Given the description of an element on the screen output the (x, y) to click on. 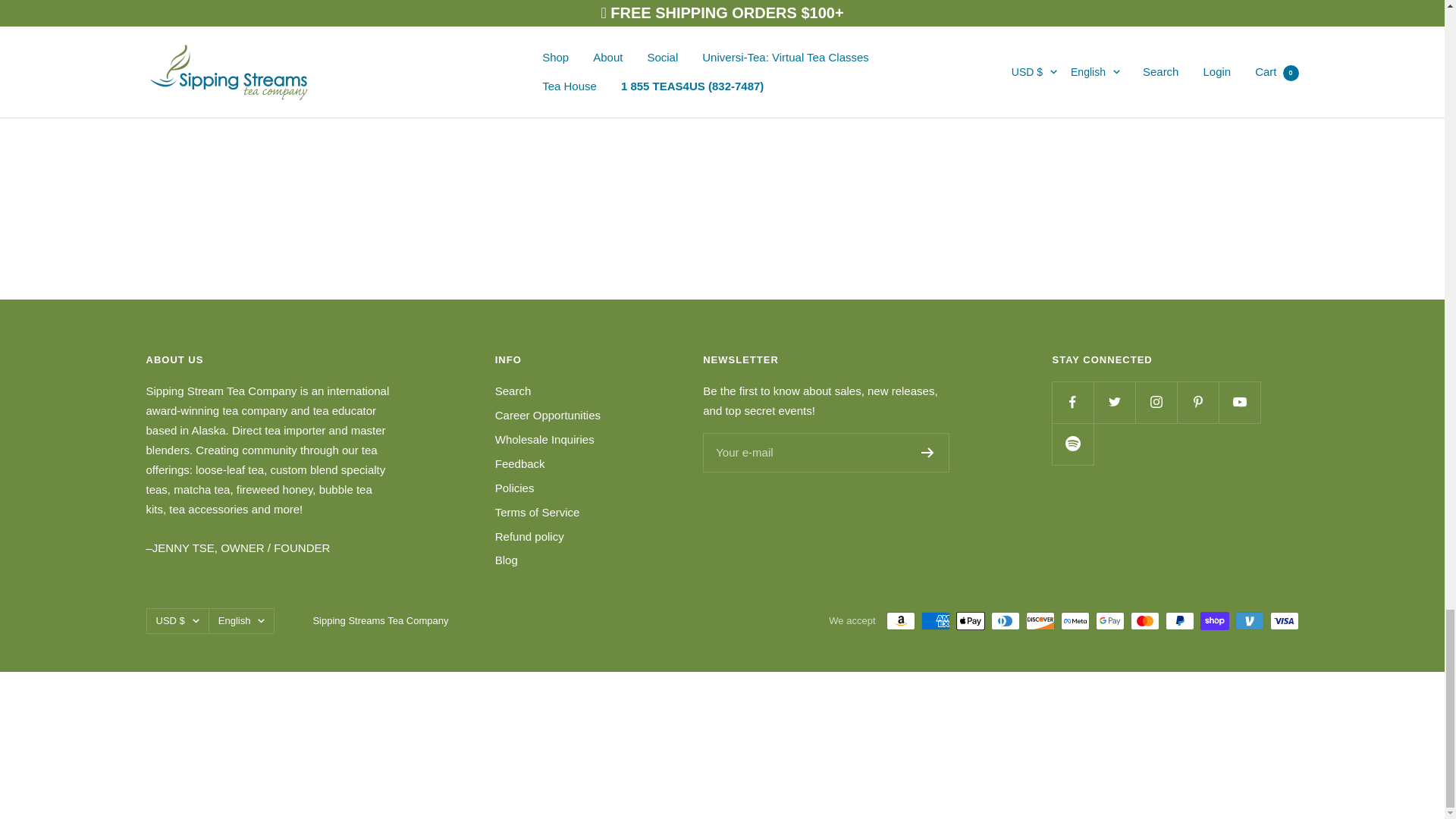
Register (927, 452)
